Given the description of an element on the screen output the (x, y) to click on. 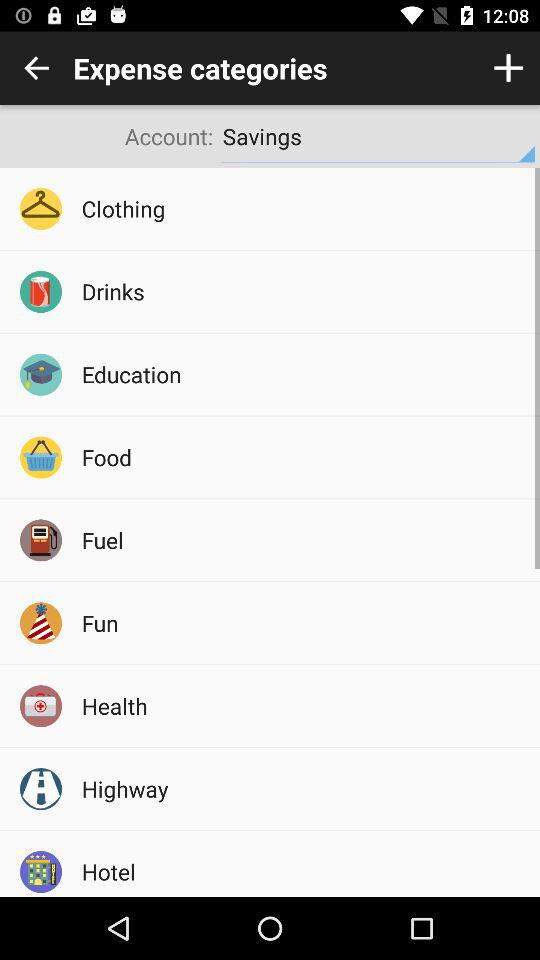
jump to the savings icon (378, 136)
